Given the description of an element on the screen output the (x, y) to click on. 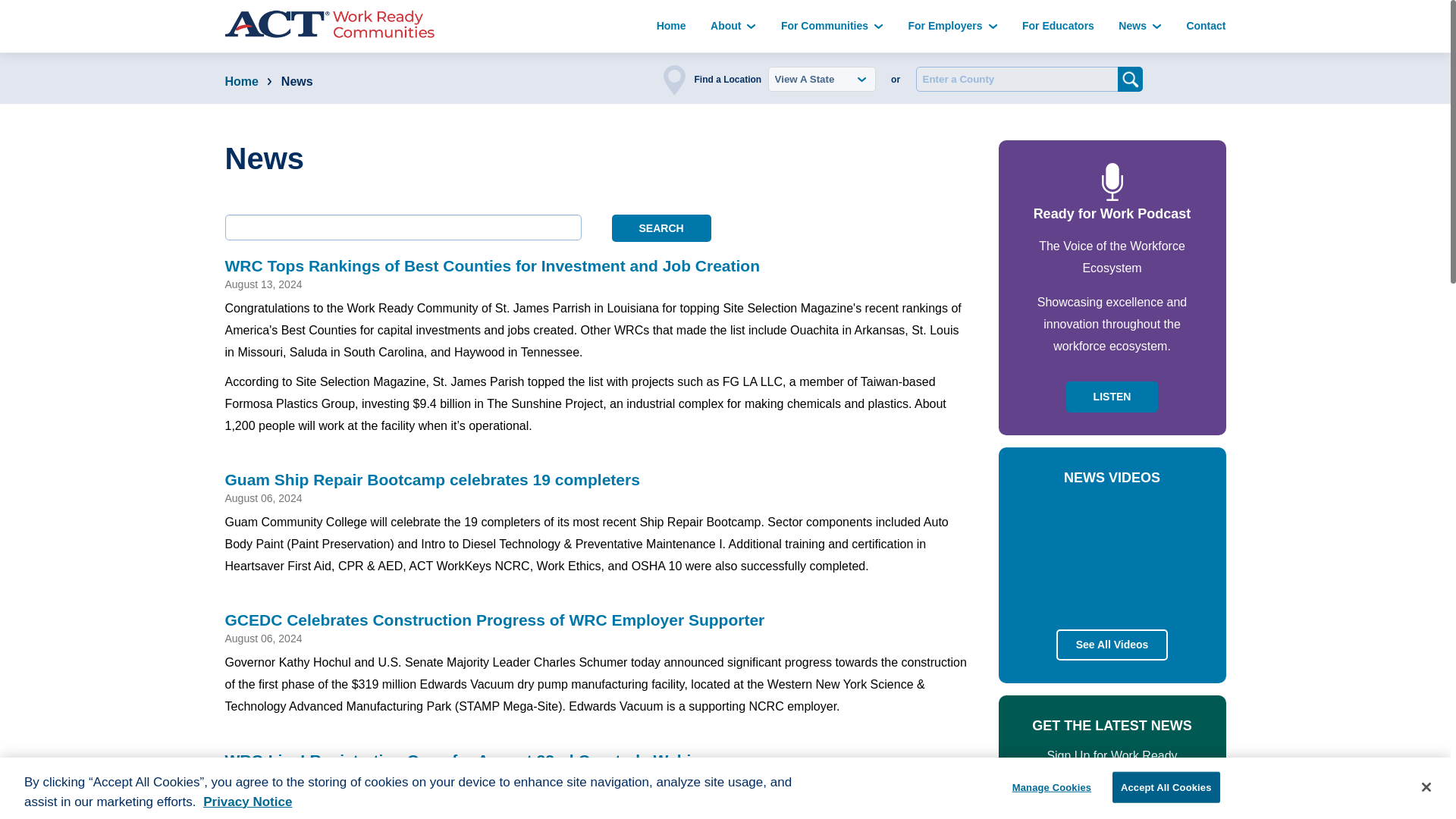
Latest News Video (1111, 554)
For Communities (831, 25)
Home (670, 25)
For Employers (952, 25)
Search (660, 227)
About (732, 25)
